Given the description of an element on the screen output the (x, y) to click on. 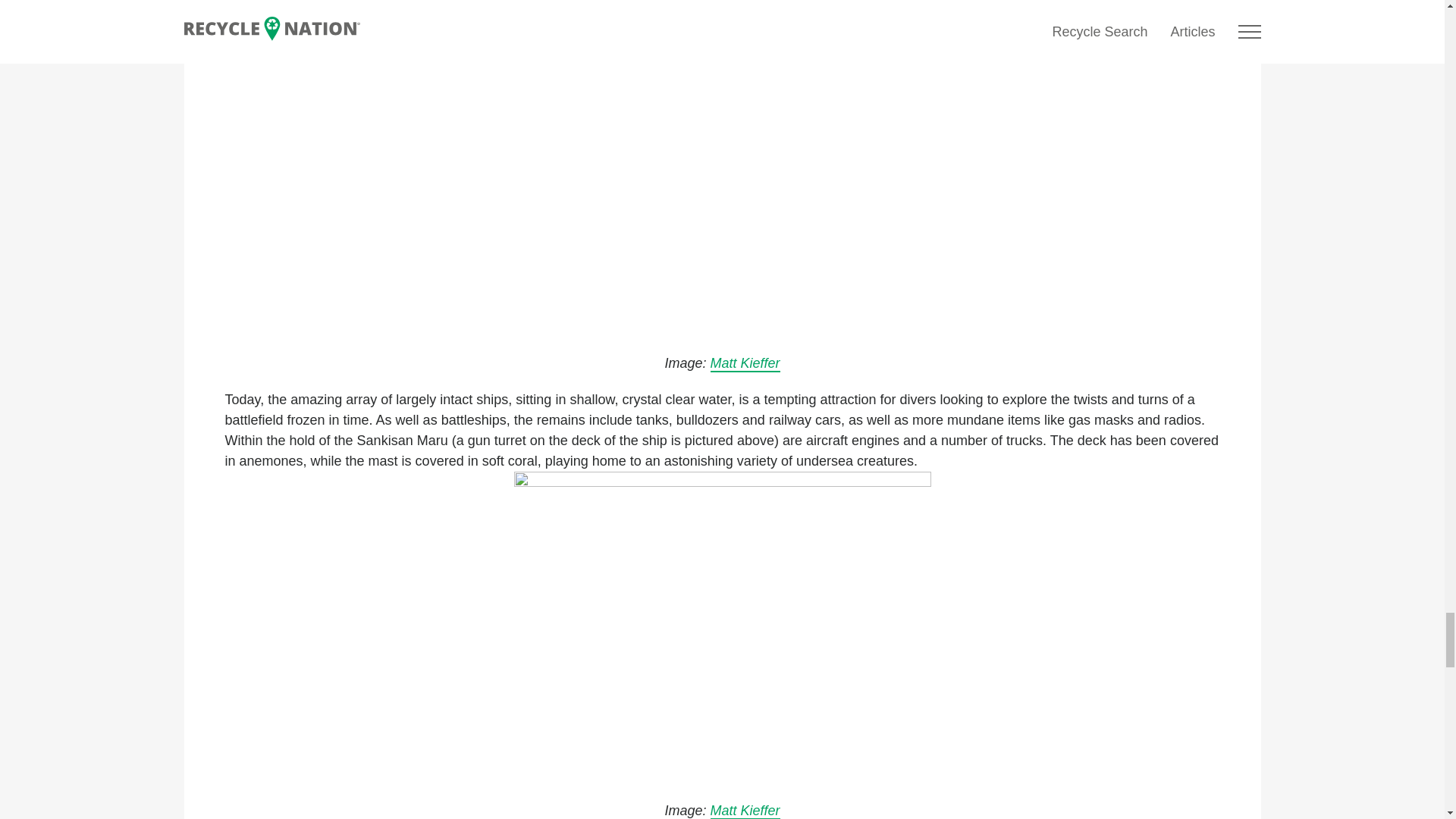
Matt Kieffer (744, 363)
sunken-recycled-vehicle-reef-18 (722, 168)
